Given the description of an element on the screen output the (x, y) to click on. 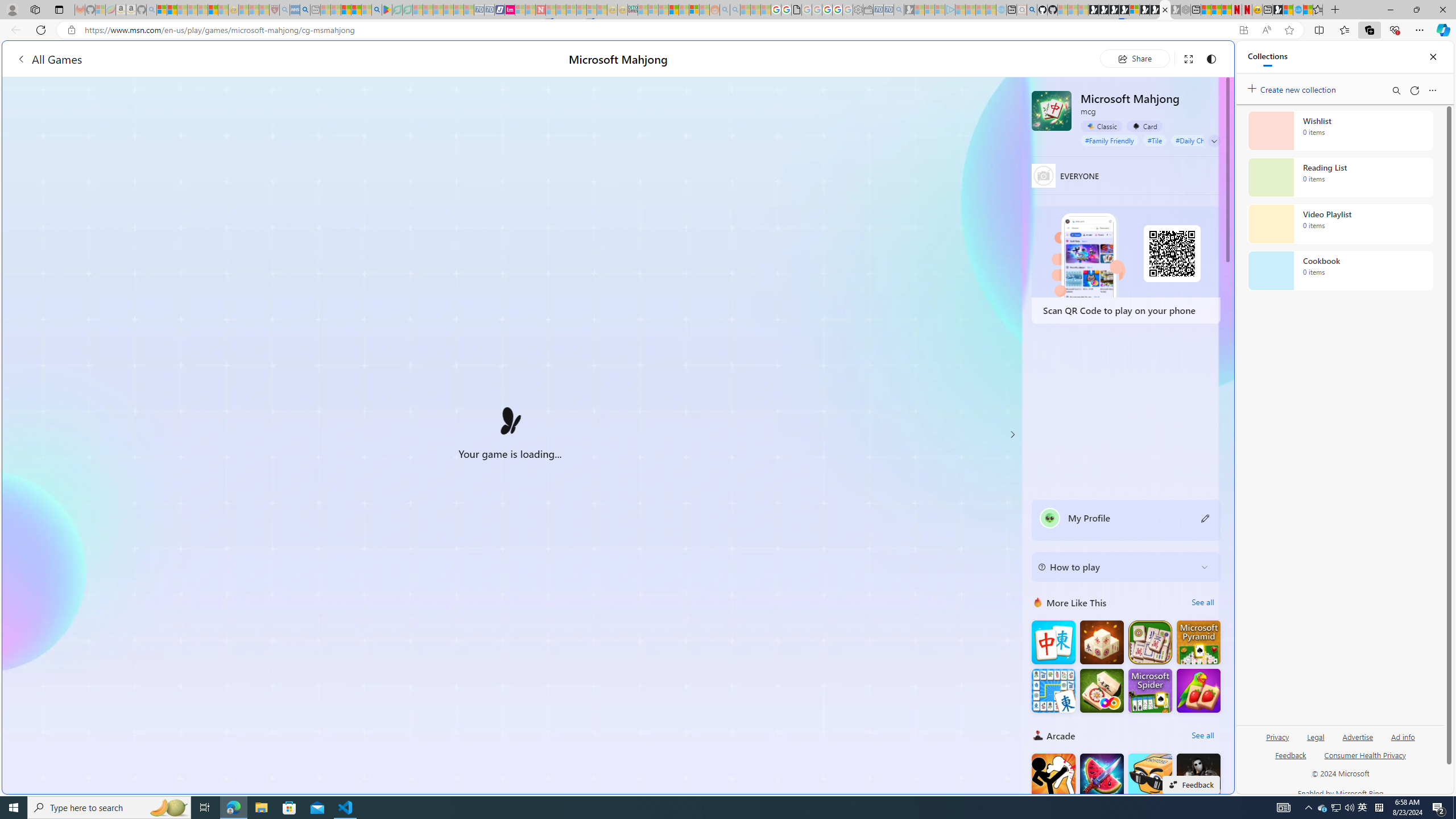
Cookbook collection, 0 items (1339, 270)
Solitaire Mahjong Juicy (1198, 690)
Full screen (1187, 58)
Hunter Hitman (1198, 775)
See all (1202, 735)
